Given the description of an element on the screen output the (x, y) to click on. 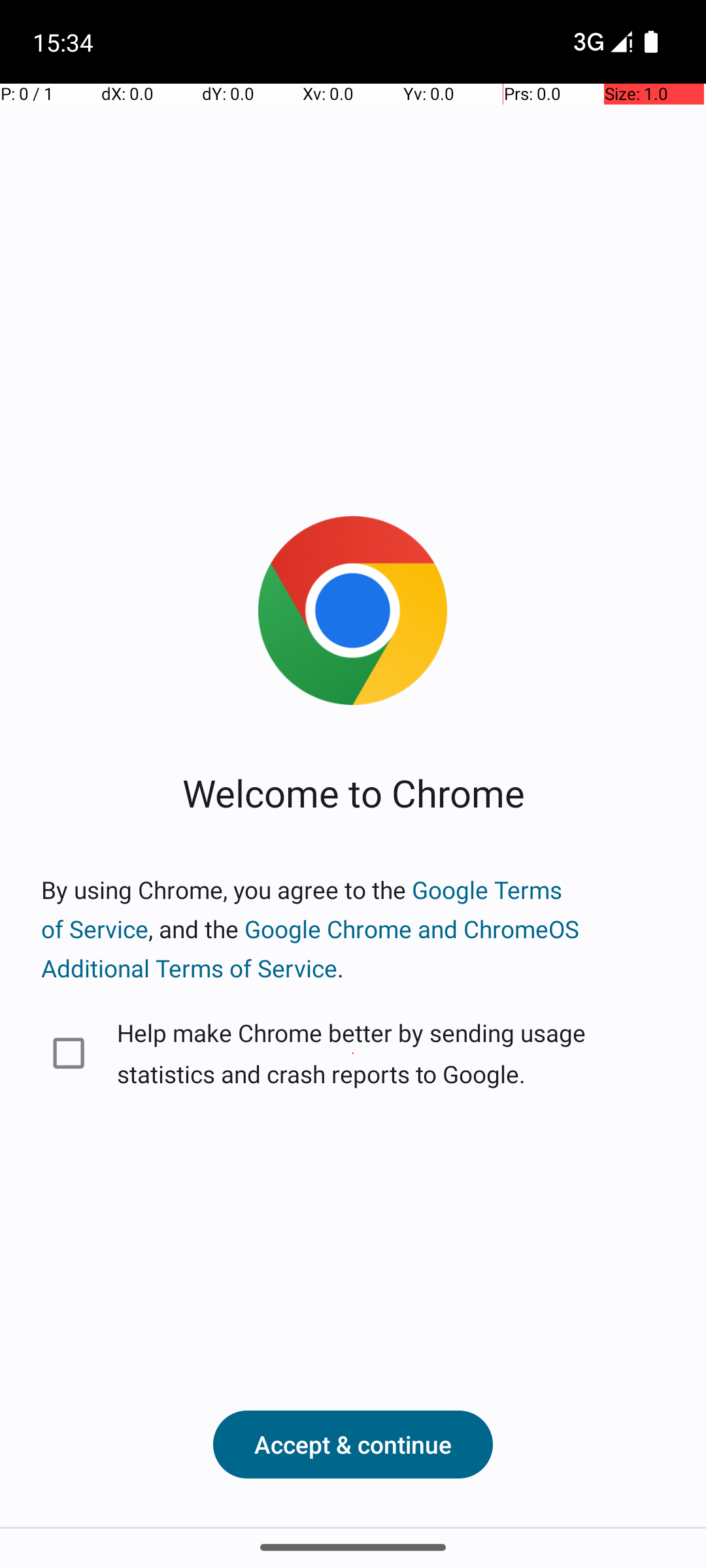
Accept & continue Element type: android.widget.Button (352, 1444)
Welcome to Chrome Element type: android.widget.TextView (352, 792)
By using Chrome, you agree to the Google Terms of Service, and the Google Chrome and ChromeOS Additional Terms of Service. Element type: android.widget.TextView (352, 928)
Help make Chrome better by sending usage statistics and crash reports to Google. Element type: android.widget.CheckBox (352, 1053)
